Given the description of an element on the screen output the (x, y) to click on. 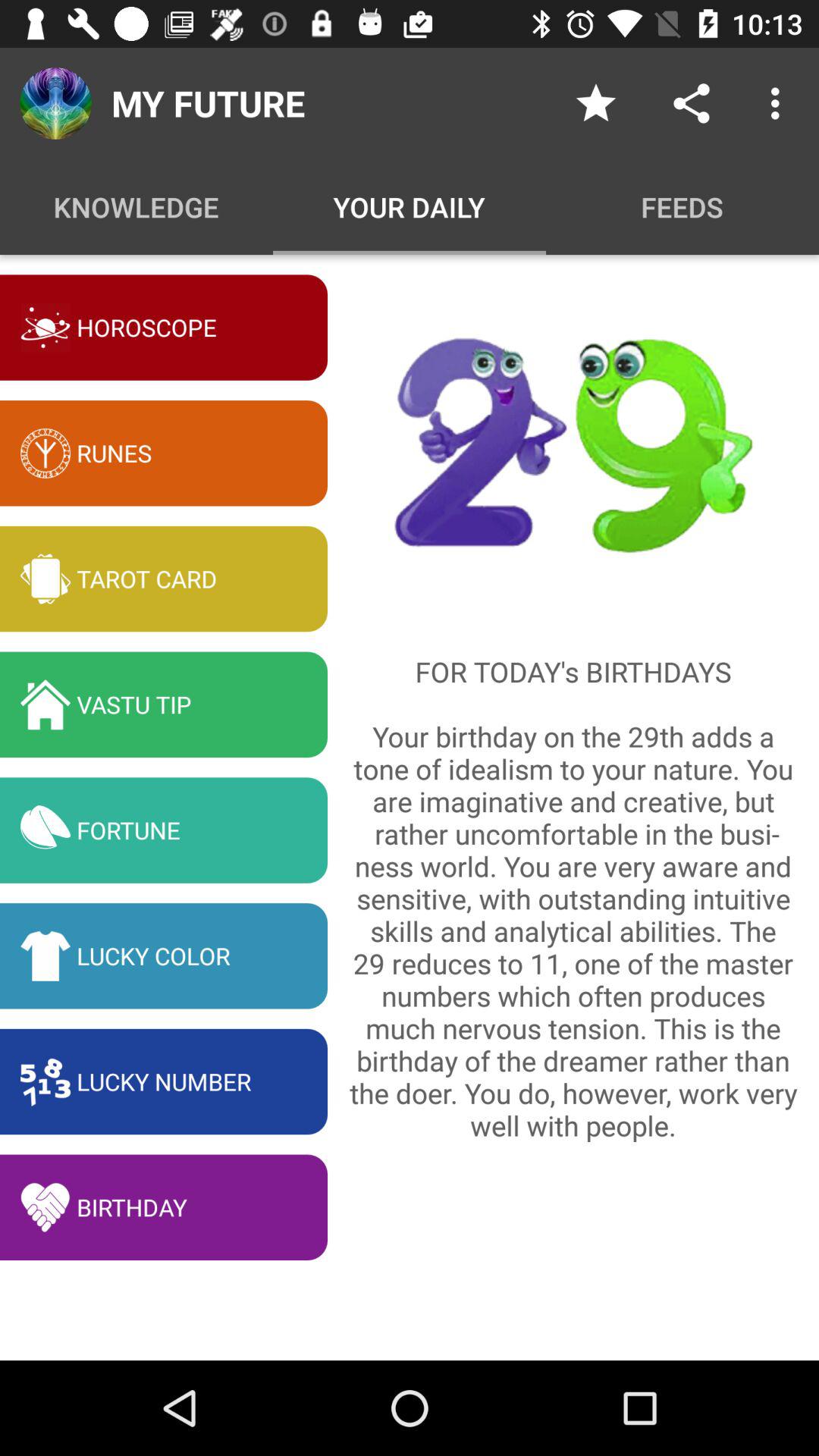
turn on icon next to my future item (595, 103)
